Given the description of an element on the screen output the (x, y) to click on. 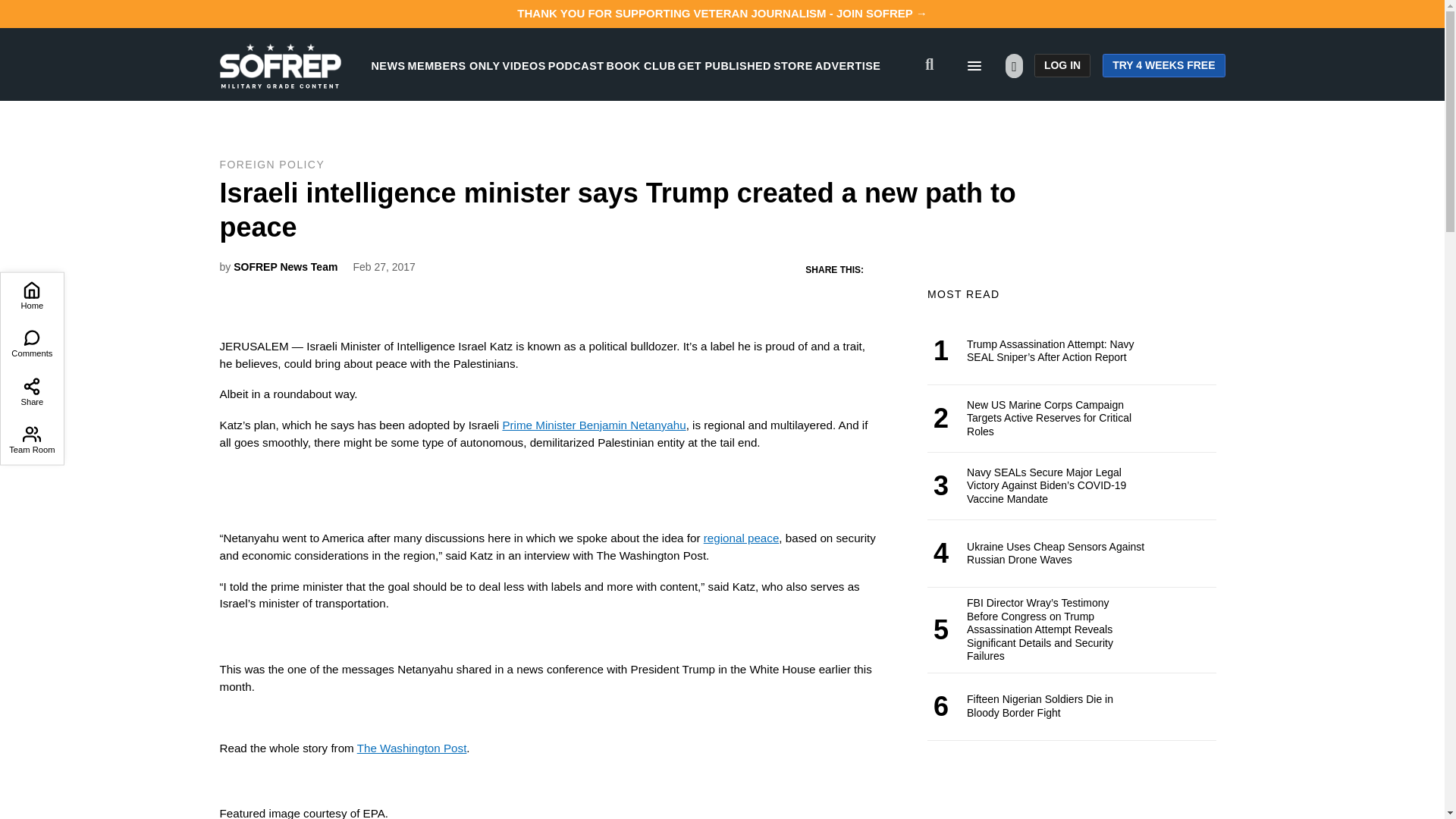
BOOK CLUB (641, 65)
ADVERTISE (847, 65)
TRY 4 WEEKS FREE (1163, 65)
LOG IN (1061, 65)
PODCAST (576, 65)
VIDEOS (524, 65)
NEWS (388, 65)
MEMBERS ONLY (453, 65)
STORE (792, 65)
GET PUBLISHED (724, 65)
